Given the description of an element on the screen output the (x, y) to click on. 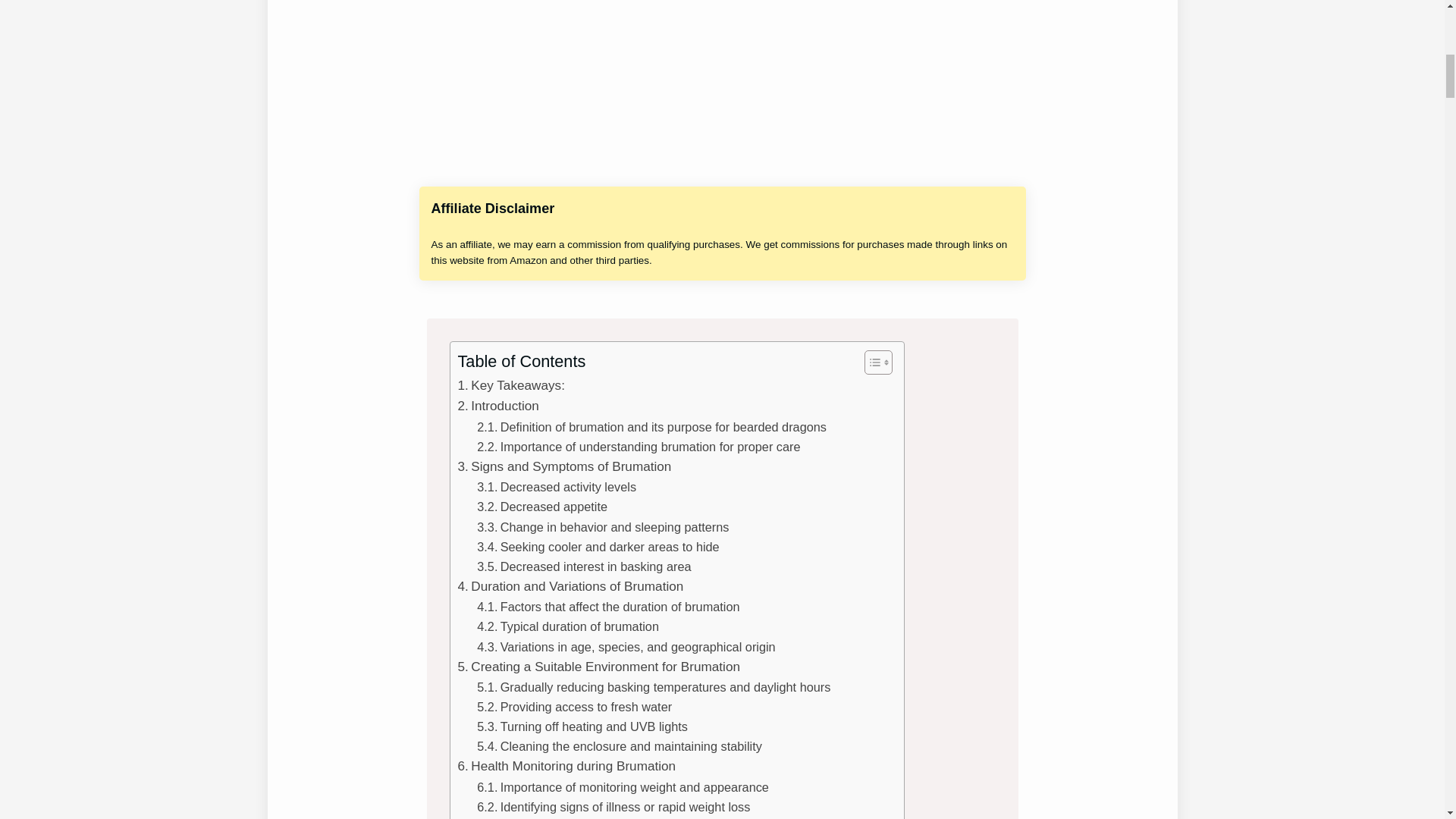
Key Takeaways: (511, 385)
Providing access to fresh water (574, 706)
Importance of monitoring weight and appearance (622, 786)
Signs and Symptoms of Brumation (564, 466)
Identifying signs of illness or rapid weight loss (613, 806)
Decreased activity levels (556, 486)
Creating a Suitable Environment for Brumation (599, 666)
Cleaning the enclosure and maintaining stability (619, 745)
Duration and Variations of Brumation (571, 586)
